Given the description of an element on the screen output the (x, y) to click on. 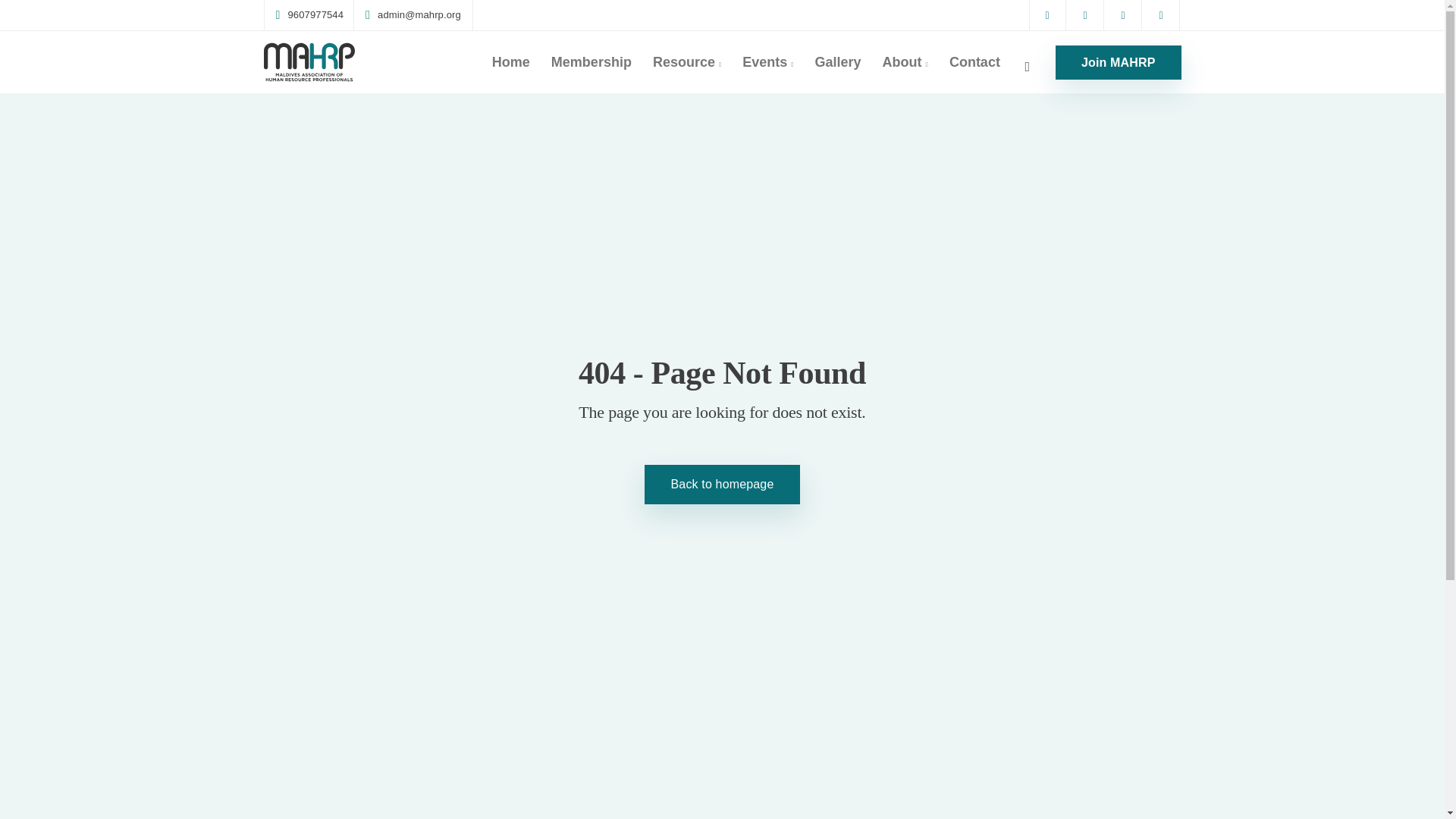
Join MAHRP (1117, 62)
News (504, 587)
Gallery (838, 62)
Back to homepage (722, 484)
9607977544 (313, 15)
Membership (591, 62)
Home (510, 62)
About (905, 62)
Contact (974, 62)
Articles (509, 620)
